Given the description of an element on the screen output the (x, y) to click on. 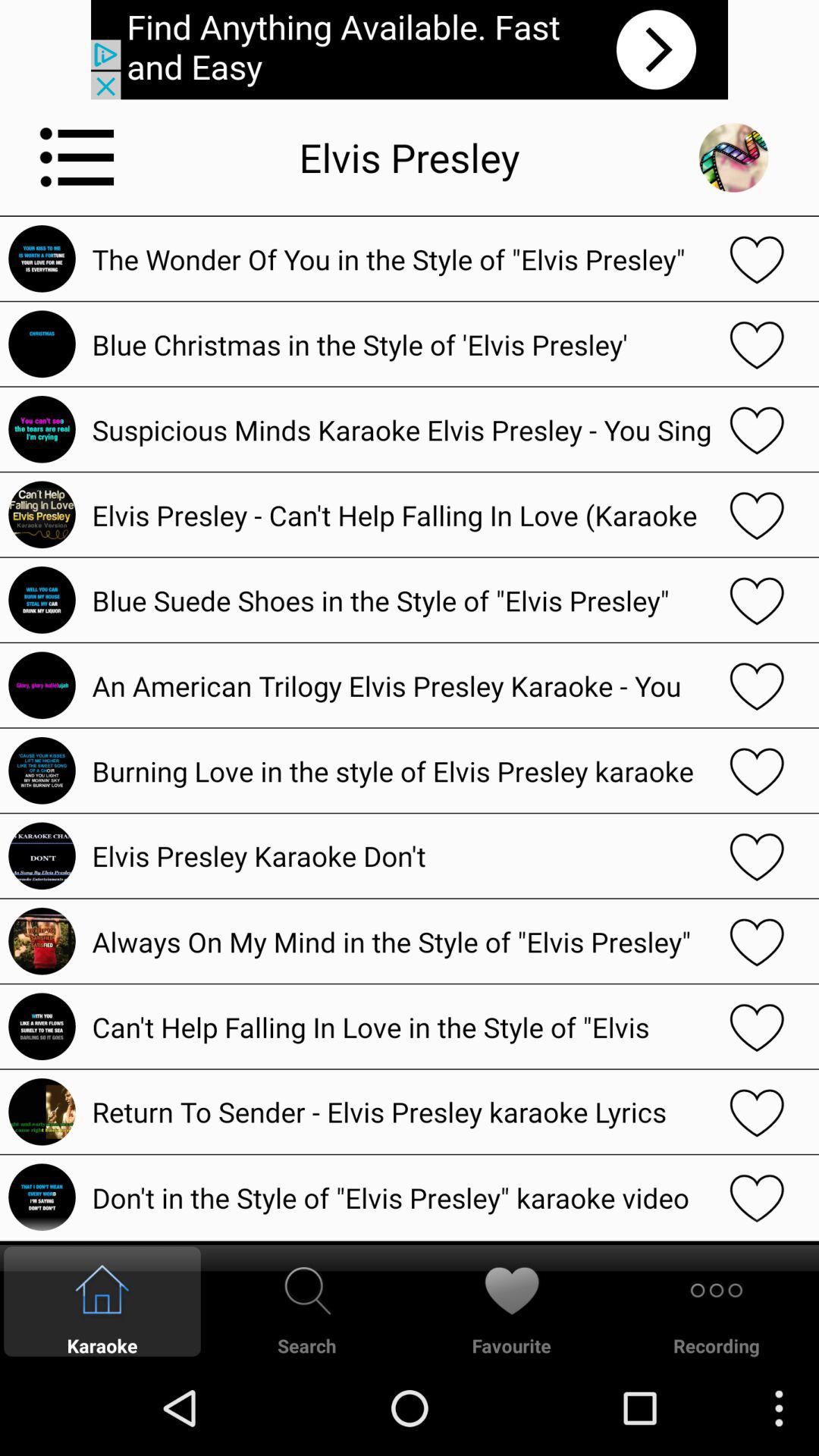
favorite song (756, 599)
